Given the description of an element on the screen output the (x, y) to click on. 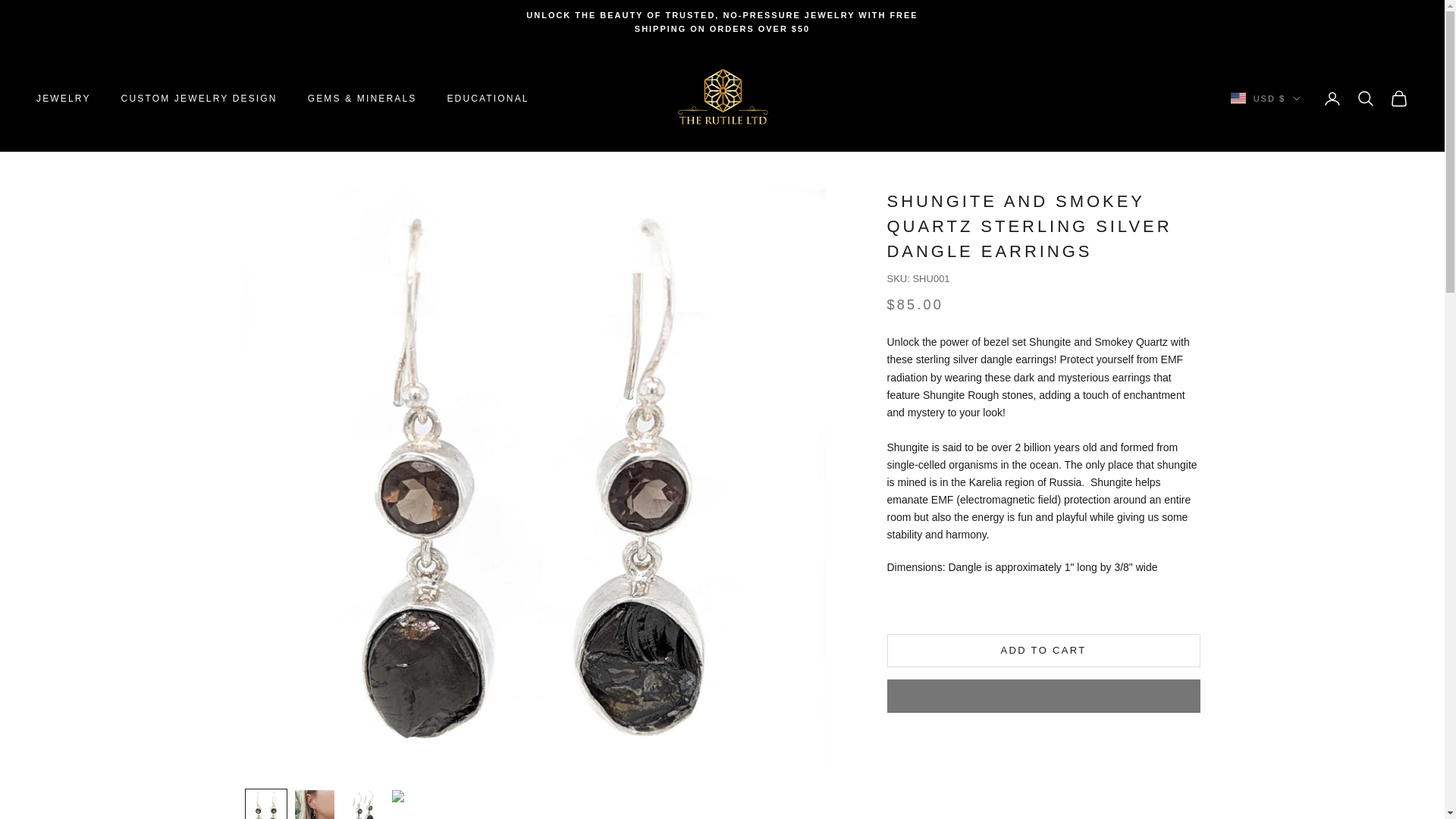
CUSTOM JEWELRY DESIGN (199, 98)
The Rutile Ltd (721, 98)
